Given the description of an element on the screen output the (x, y) to click on. 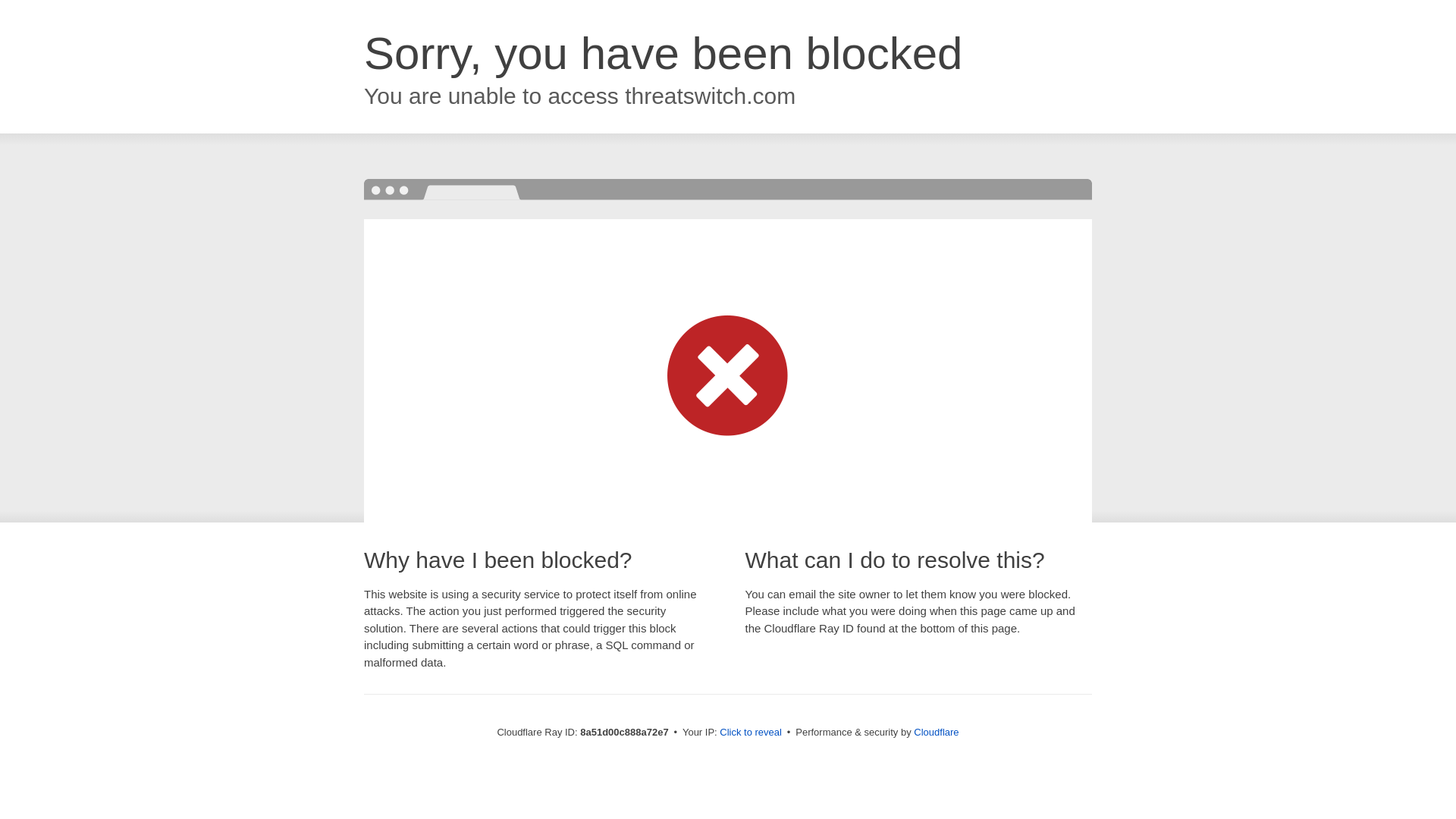
Click to reveal (750, 732)
Cloudflare (936, 731)
